Given the description of an element on the screen output the (x, y) to click on. 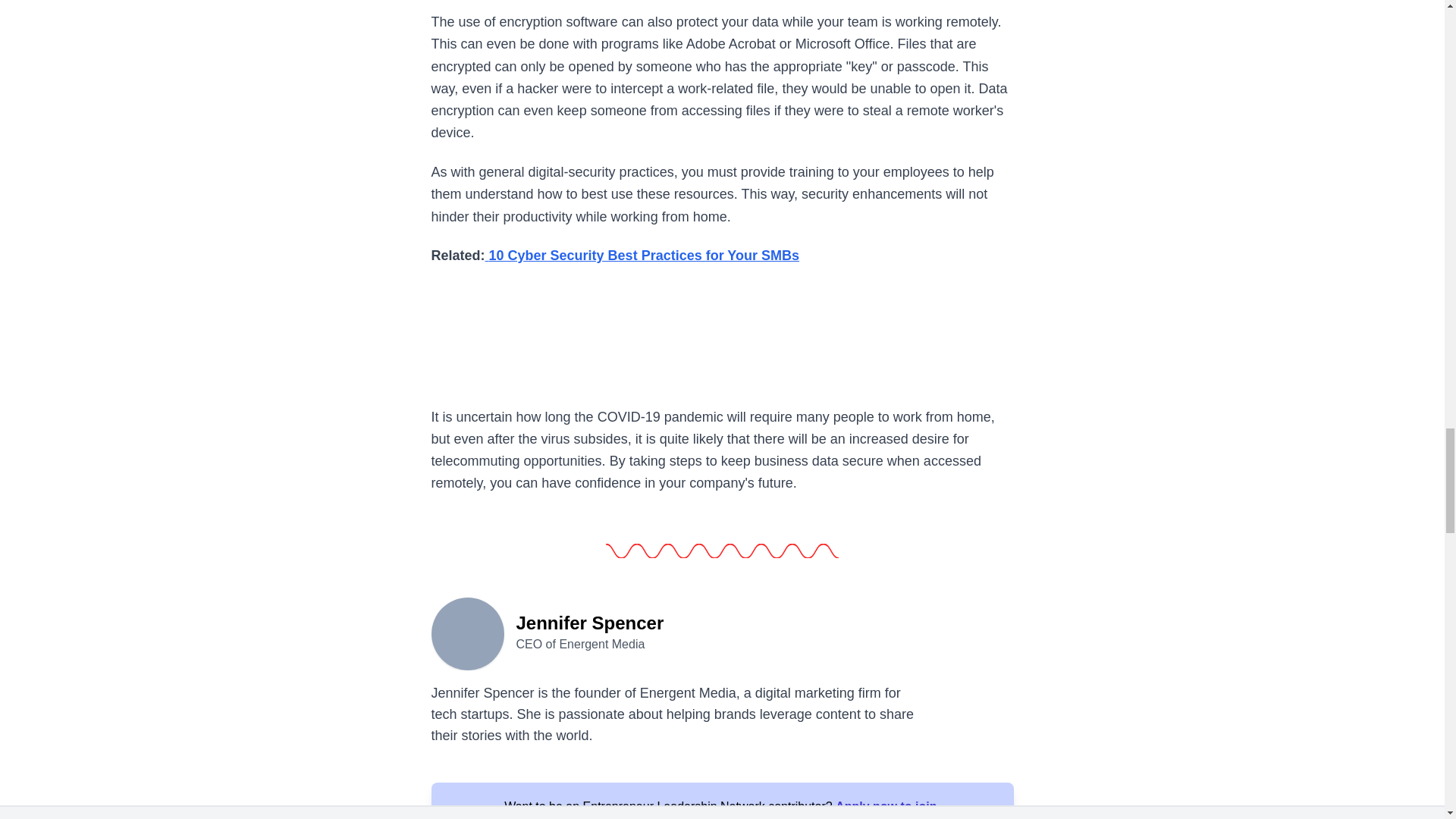
Jennifer Spencer (466, 632)
